Given the description of an element on the screen output the (x, y) to click on. 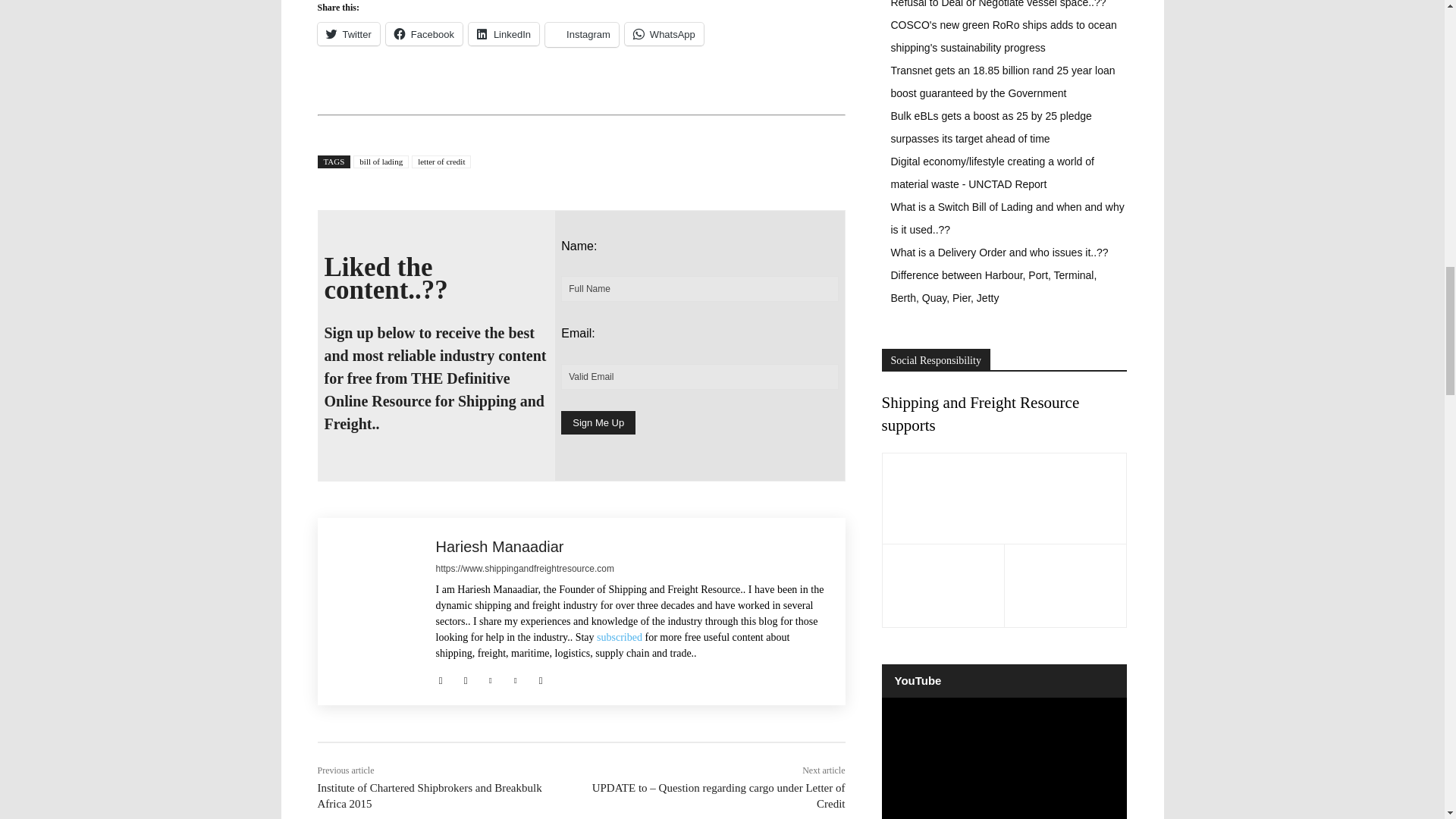
Sign Me Up (597, 422)
Valid Email (699, 376)
Full Name (699, 289)
